Given the description of an element on the screen output the (x, y) to click on. 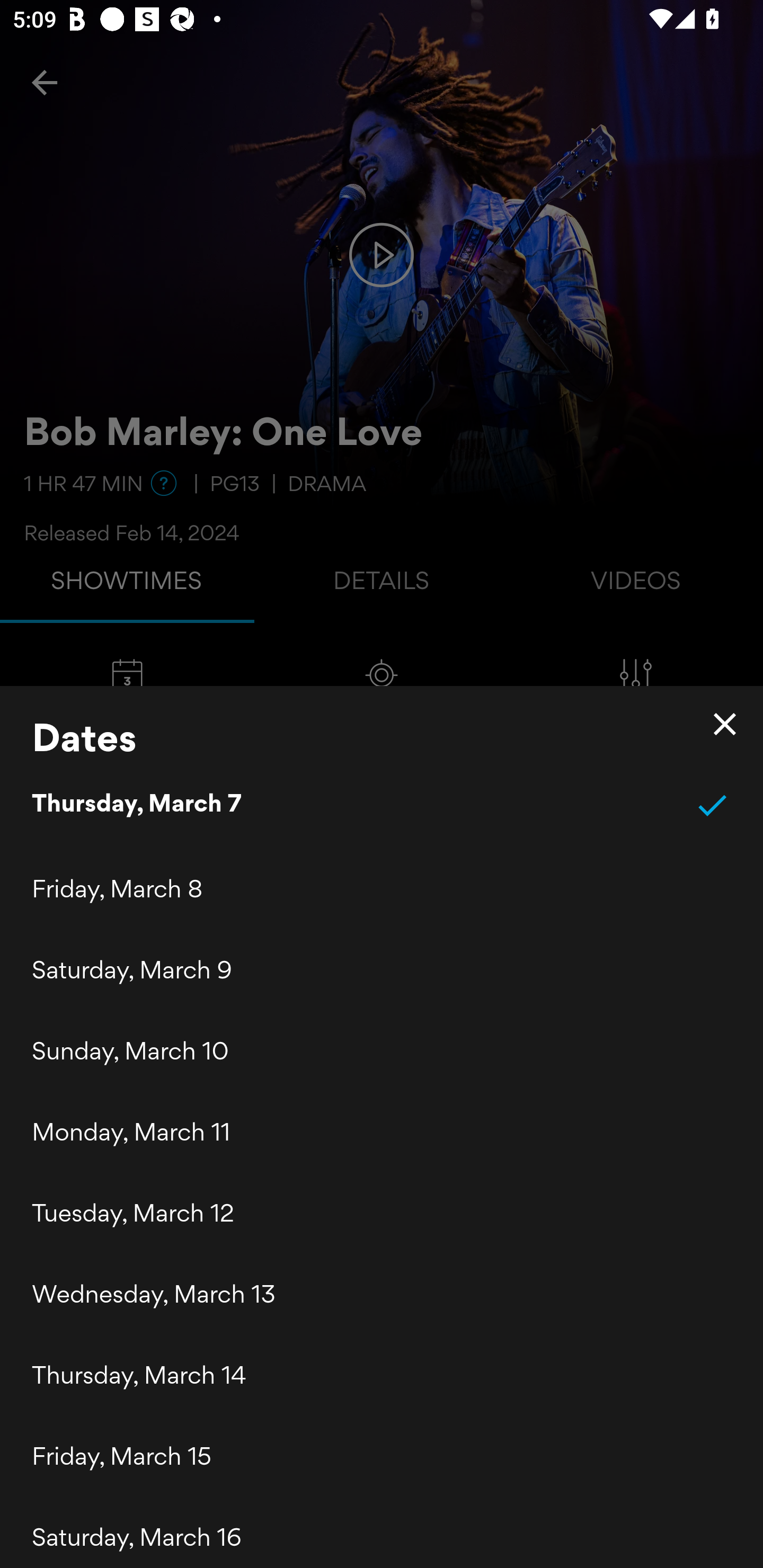
Close (724, 724)
Thursday, March 7 (381, 805)
Friday, March 8 (381, 888)
Saturday, March 9 (381, 969)
Sunday, March 10 (381, 1050)
Monday, March 11 (381, 1131)
Tuesday, March 12 (381, 1212)
Wednesday, March 13 (381, 1293)
Thursday, March 14 (381, 1374)
Friday, March 15 (381, 1455)
Saturday, March 16 (381, 1531)
